Given the description of an element on the screen output the (x, y) to click on. 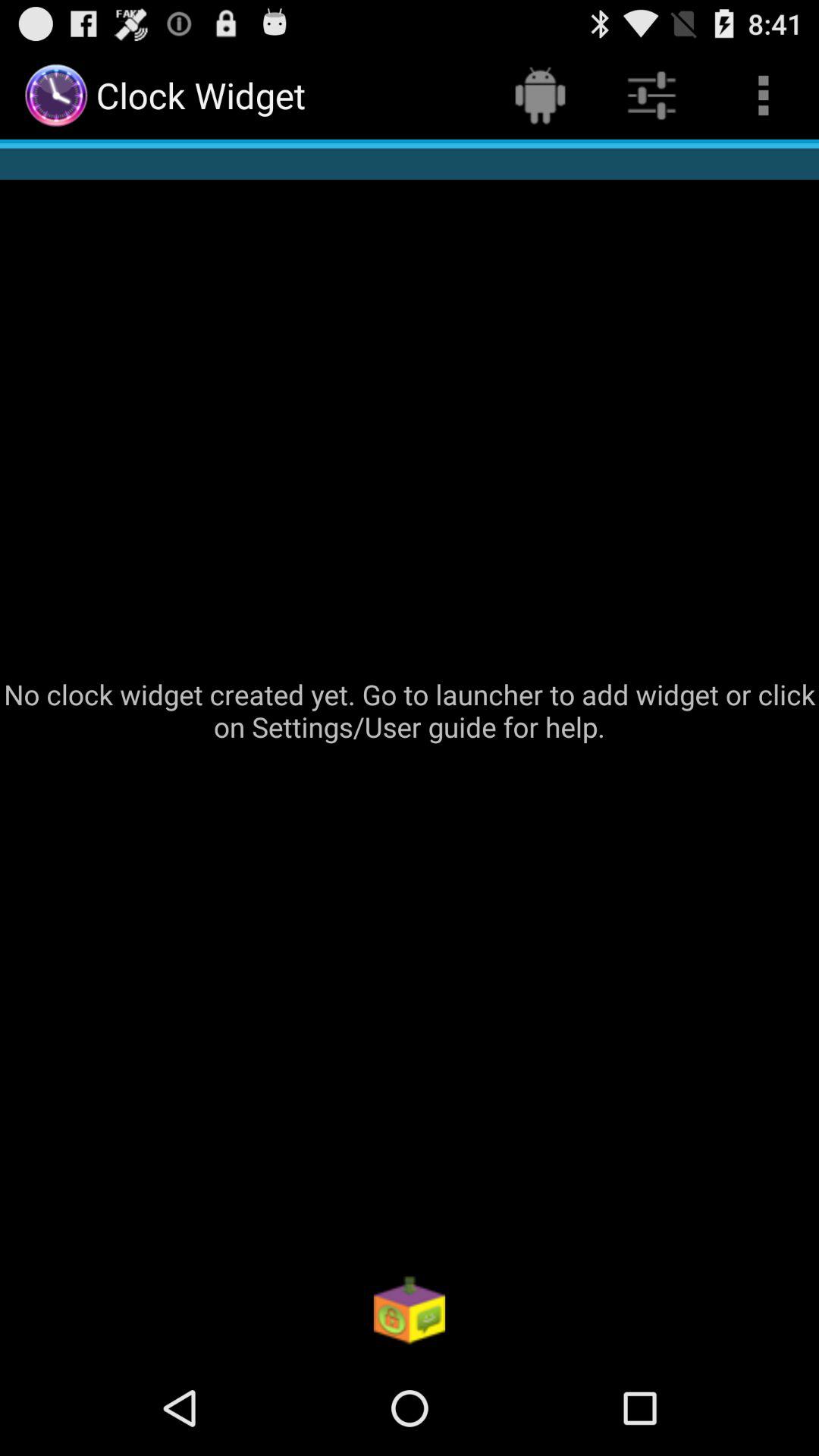
choose icon above no clock widget icon (763, 95)
